Given the description of an element on the screen output the (x, y) to click on. 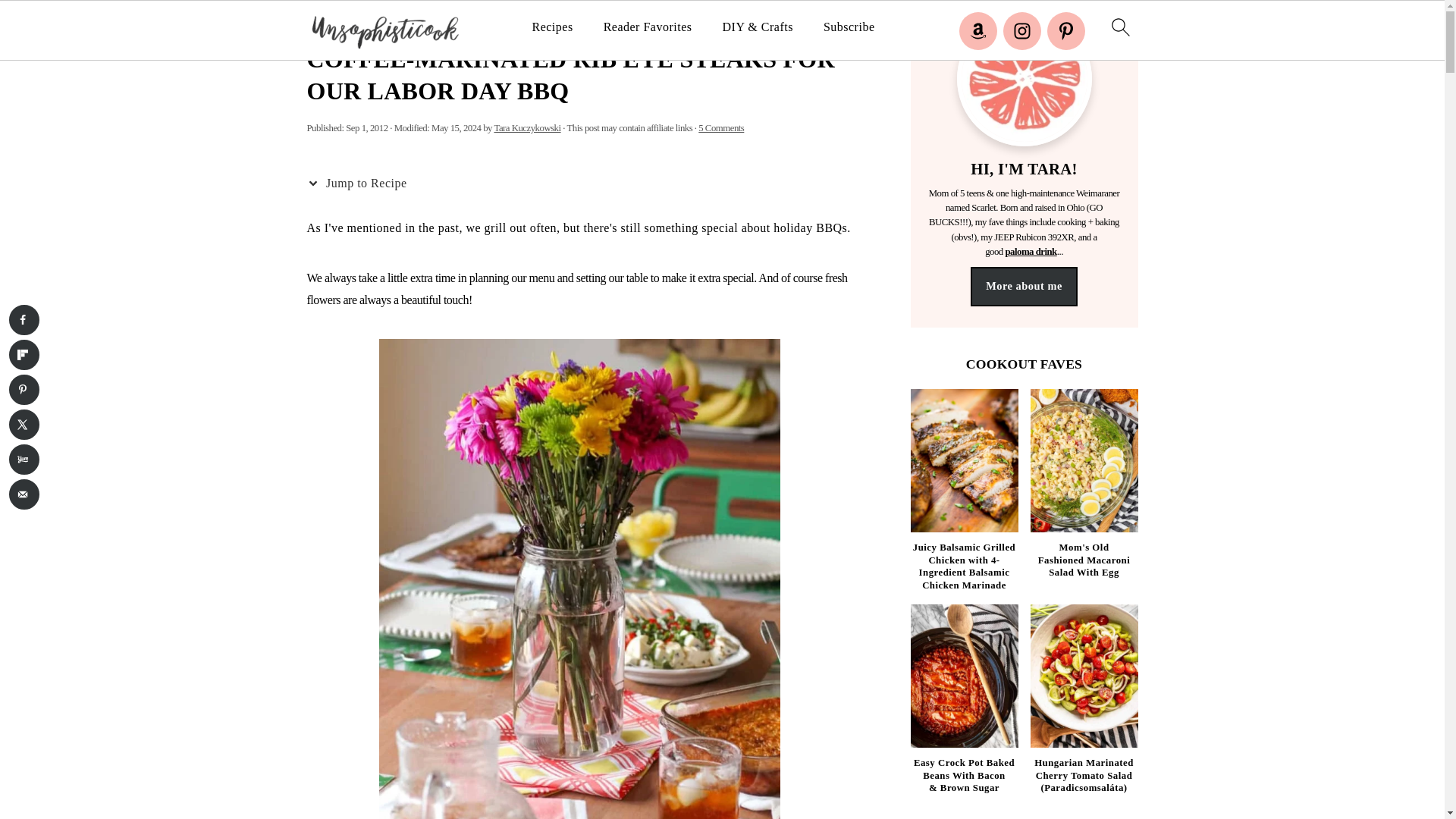
Recipes (357, 23)
Tara Kuczykowski (526, 127)
Share on Flipboard (23, 354)
search icon (1119, 26)
Share on X (23, 424)
Main Course (408, 23)
Subscribe (849, 26)
5 Comments (721, 127)
Recipes (551, 26)
Save to Pinterest (23, 389)
Share on Facebook (23, 319)
Jump to Recipe (359, 183)
Subscribe (849, 26)
Home (318, 23)
